Given the description of an element on the screen output the (x, y) to click on. 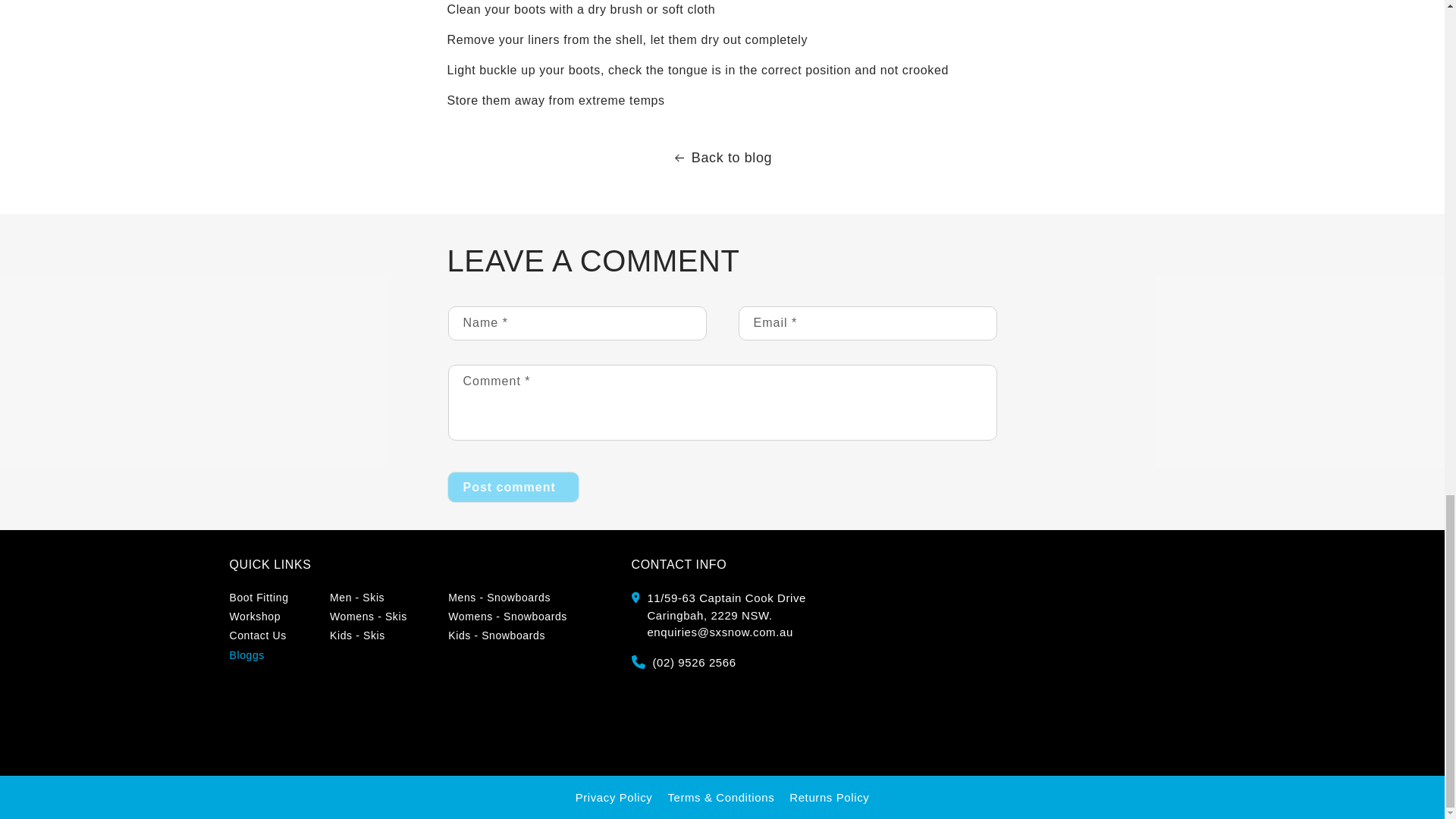
Post comment (512, 486)
